Given the description of an element on the screen output the (x, y) to click on. 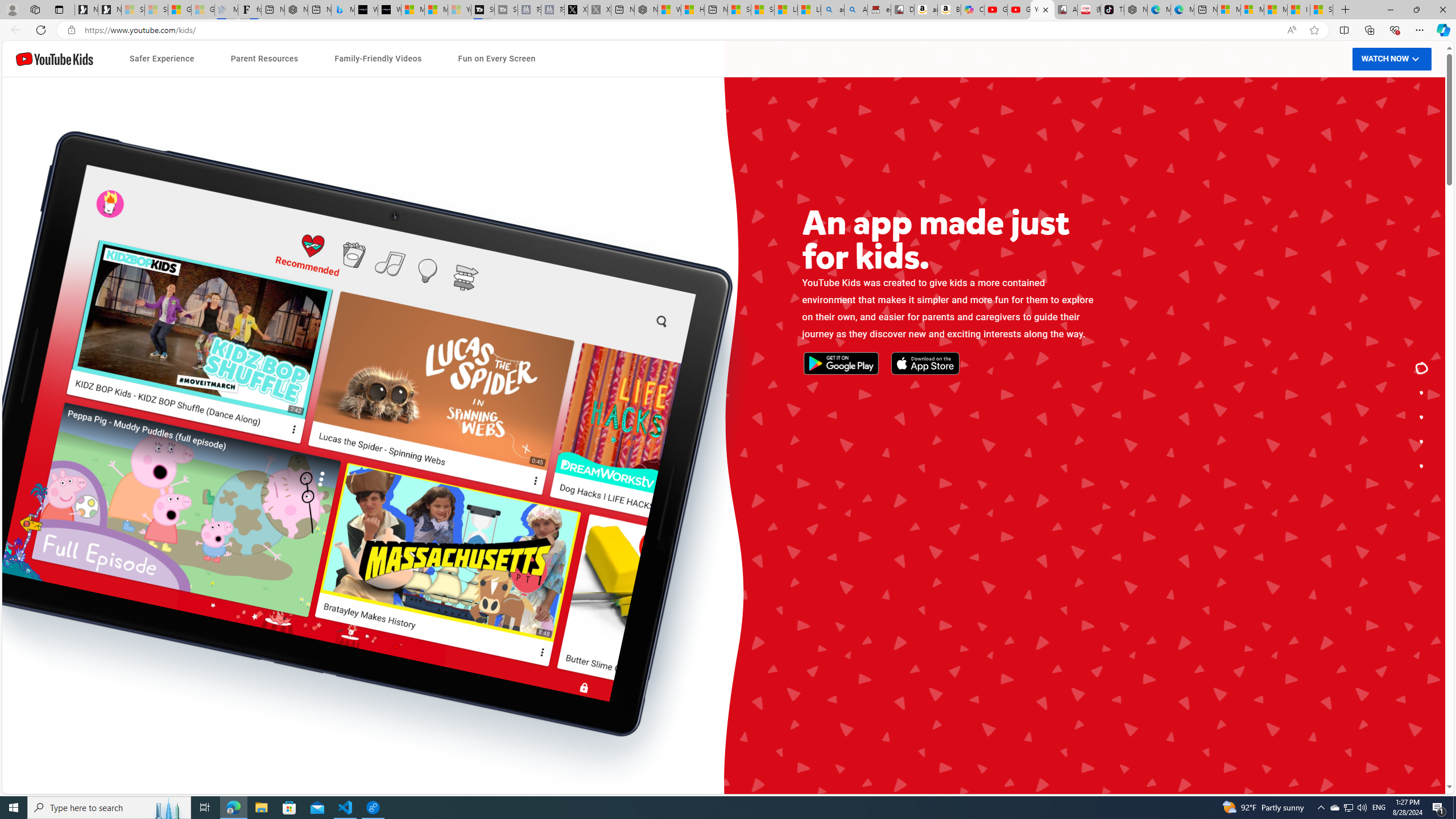
An app made just for kids. (1421, 368)
02Content Level by Age (496, 502)
04 Shows & Cartoons (950, 559)
01Parent Approved + Collections (496, 479)
04 Blocking (496, 550)
